Given the description of an element on the screen output the (x, y) to click on. 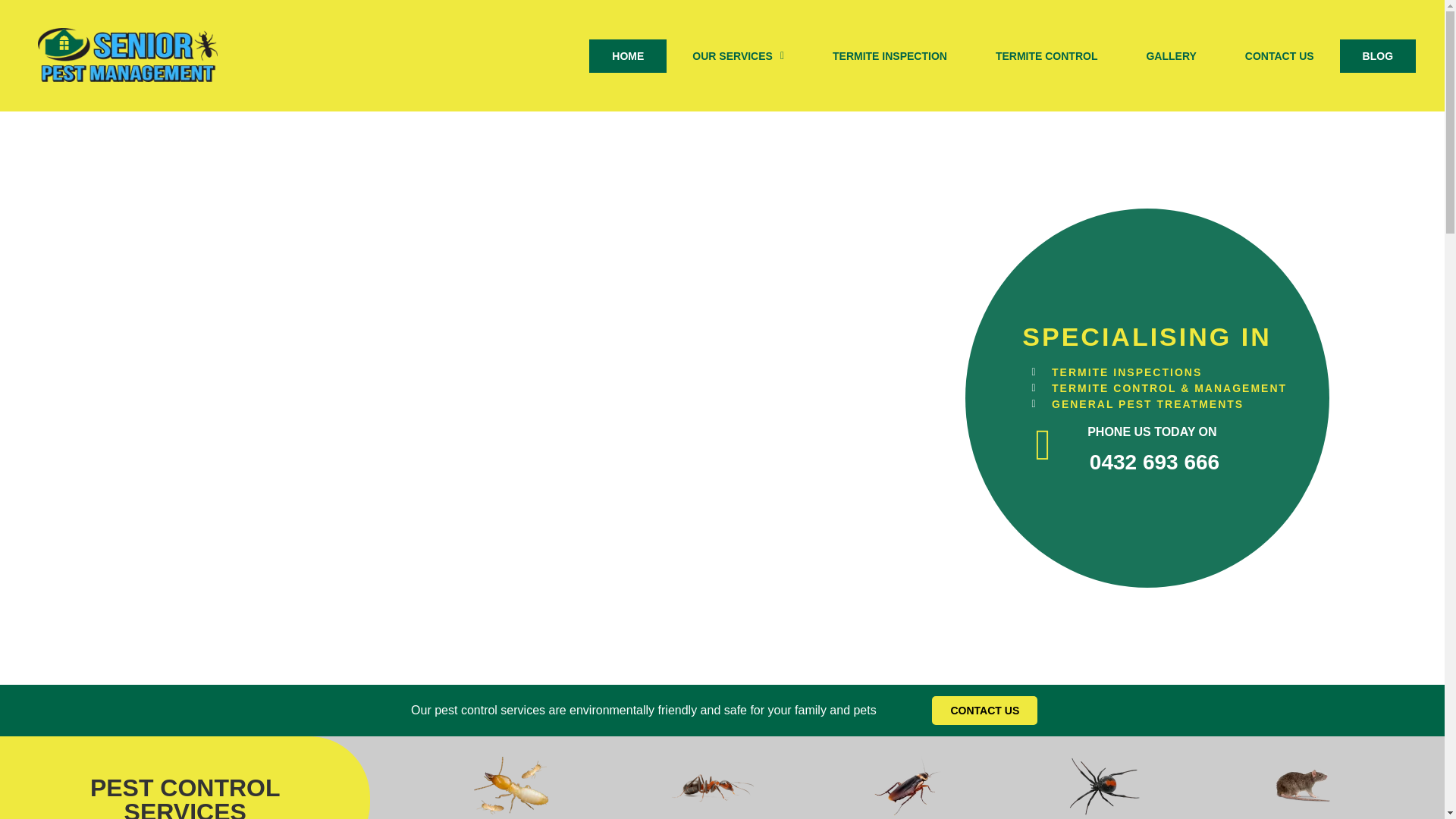
ant (710, 785)
CONTACT US (1279, 55)
termite.png (512, 785)
TERMITE CONTROL (1046, 55)
HOME (627, 55)
GALLERY (1170, 55)
BLOG (1377, 55)
rat-small.png (1301, 785)
TERMITE INSPECTION (889, 55)
OUR SERVICES (737, 55)
Roach.png (907, 785)
CONTACT US (983, 710)
spider.png (1104, 785)
